Given the description of an element on the screen output the (x, y) to click on. 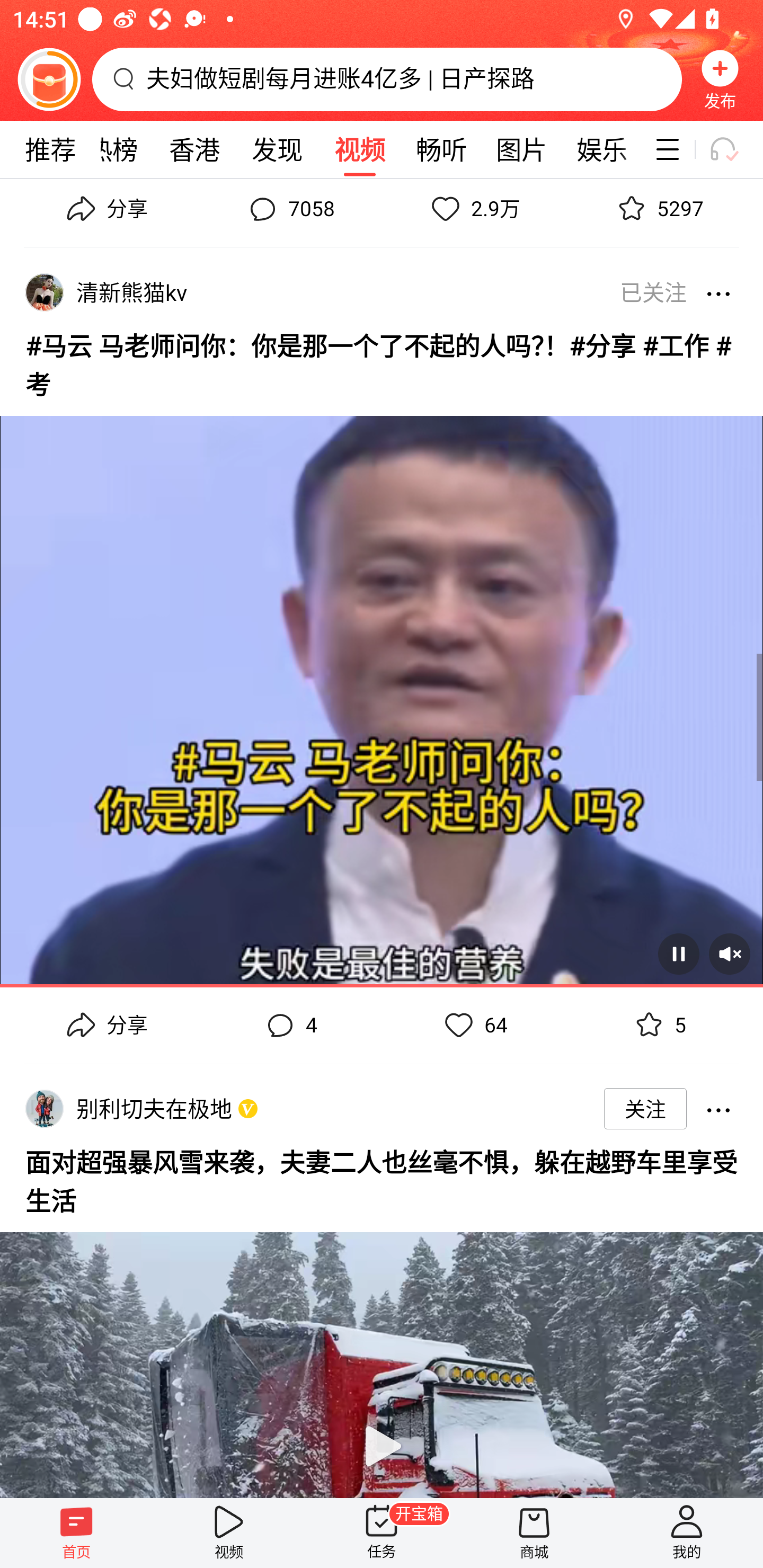
阅读赚金币 (48, 79)
夫妇做短剧每月进账4亿多 | 日产探路 搜索框，夫妇做短剧每月进账4亿多 | 日产探路 (387, 79)
发布 发布，按钮 (720, 78)
推荐 (49, 149)
香港 (194, 149)
发现 (276, 149)
视频 (359, 149)
畅听 (441, 149)
图片 (521, 149)
娱乐 (601, 149)
听一听开关 (732, 149)
分享 (104, 212)
评论,7058 7058 (288, 212)
收藏,5297 5297 (658, 212)
更多 (718, 292)
清新熊猫kv头像 (44, 292)
清新熊猫kv (134, 292)
已关注 (647, 292)
#马云 马老师问你：你是那一个了不起的人吗？！#分享 #工作 #考 (381, 362)
视频播放器，双击唤起播放控制 取消静音 (381, 694)
取消静音 (729, 953)
分享 (104, 1025)
评论,4 4 (288, 1025)
收藏,5 5 (658, 1025)
更多 (718, 1108)
关注 (645, 1108)
别利切夫在极地头像 (44, 1108)
别利切夫在极地 别利切夫在极地  已认证 (157, 1108)
面对超强暴风雪来袭，夫妻二人也丝毫不惧，躲在越野车里享受生活 (381, 1178)
播放视频 (381, 1357)
首页 (76, 1532)
视频 (228, 1532)
任务 开宝箱 (381, 1532)
商城 (533, 1532)
我的 (686, 1532)
